Given the description of an element on the screen output the (x, y) to click on. 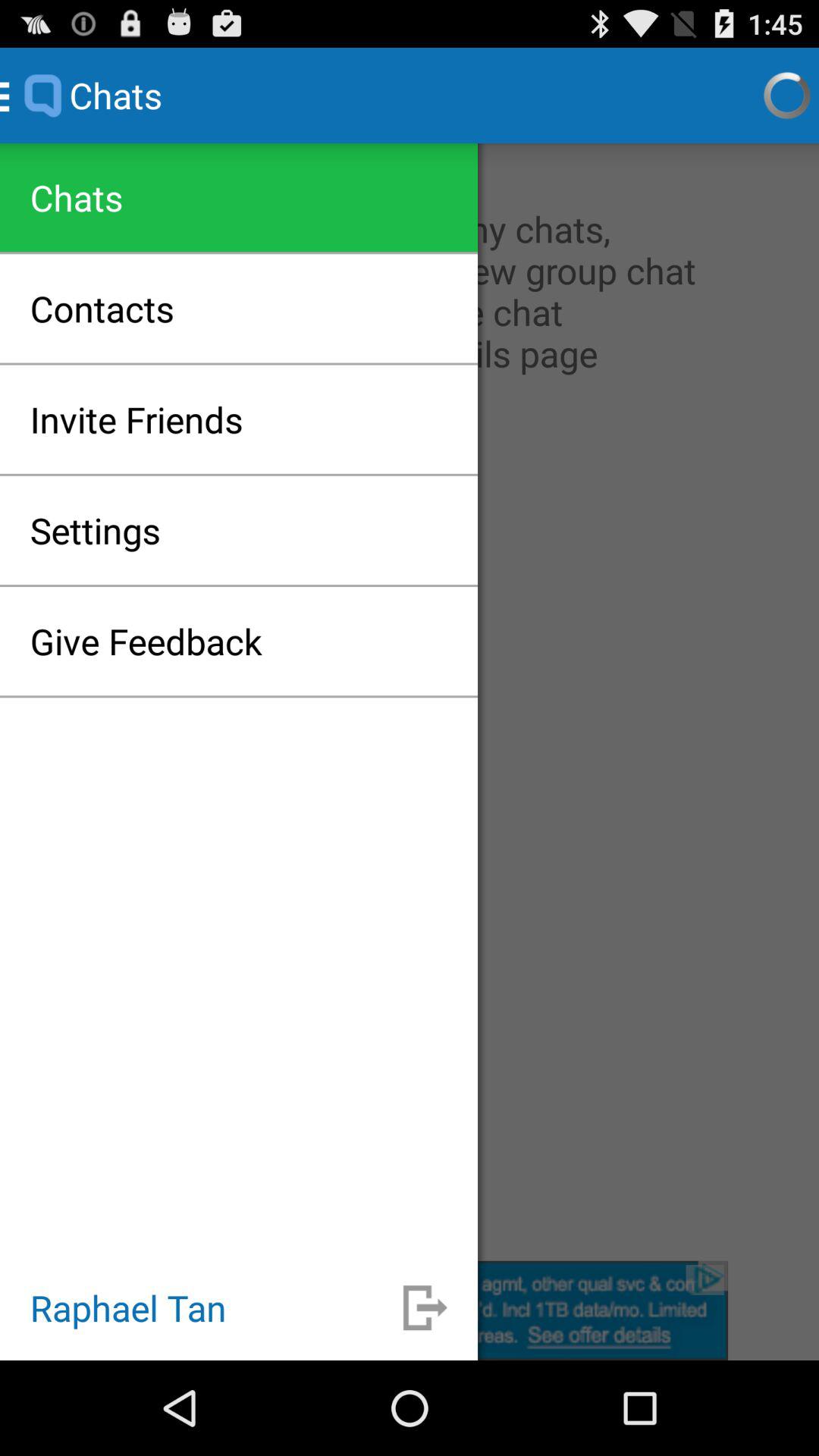
turn on icon above give feedback item (95, 530)
